Given the description of an element on the screen output the (x, y) to click on. 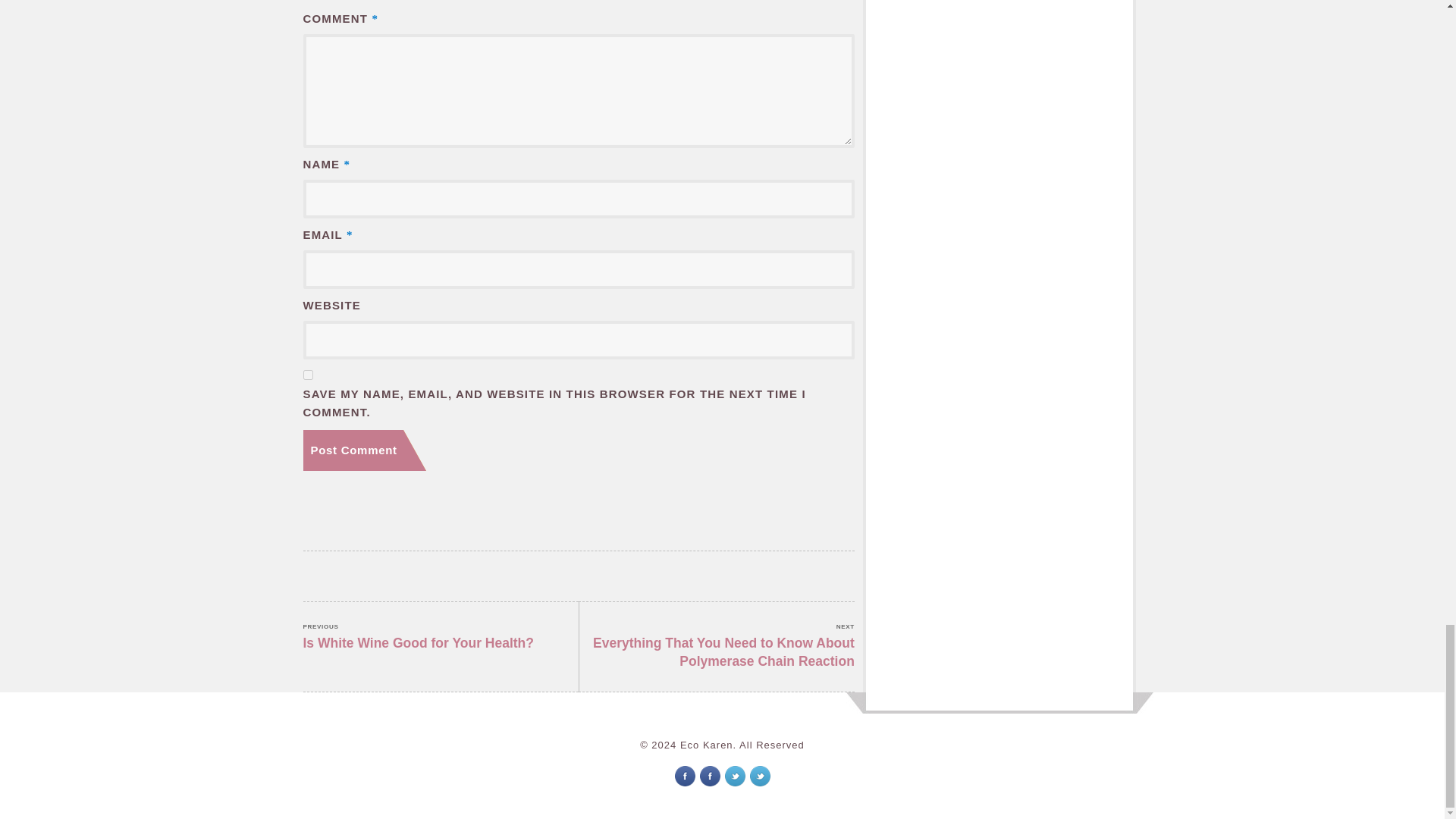
Post Comment (364, 449)
Facebook (709, 775)
Facebook (708, 775)
Twitter (760, 775)
yes (307, 375)
Twitter (759, 775)
Twitter (440, 637)
Post Comment (734, 775)
Twitter (364, 449)
Facebook (735, 775)
Facebook (685, 775)
